Given the description of an element on the screen output the (x, y) to click on. 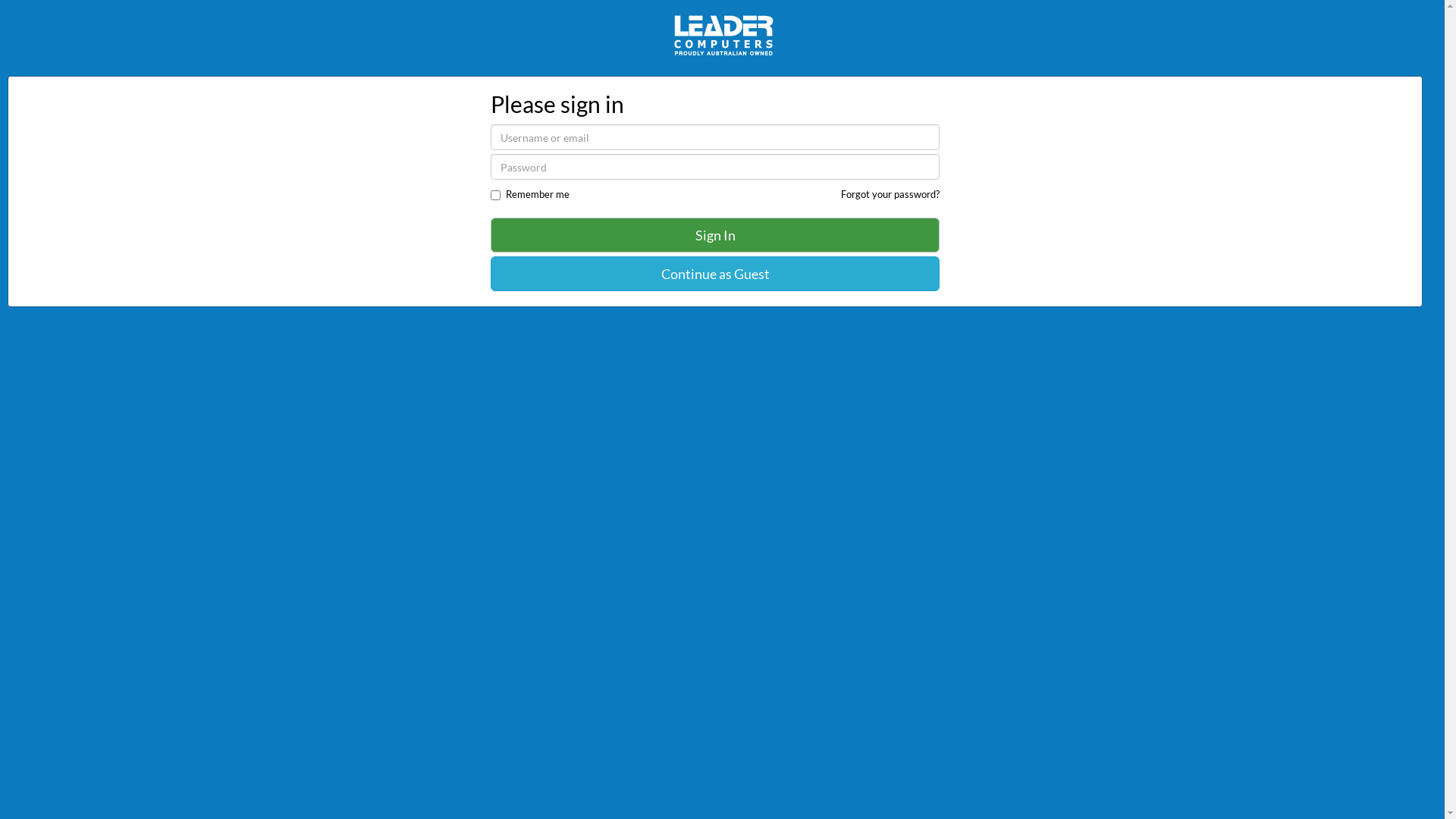
Forgot your password? Element type: text (889, 194)
Continue as Guest Element type: text (714, 273)
Sign In Element type: text (714, 233)
